Given the description of an element on the screen output the (x, y) to click on. 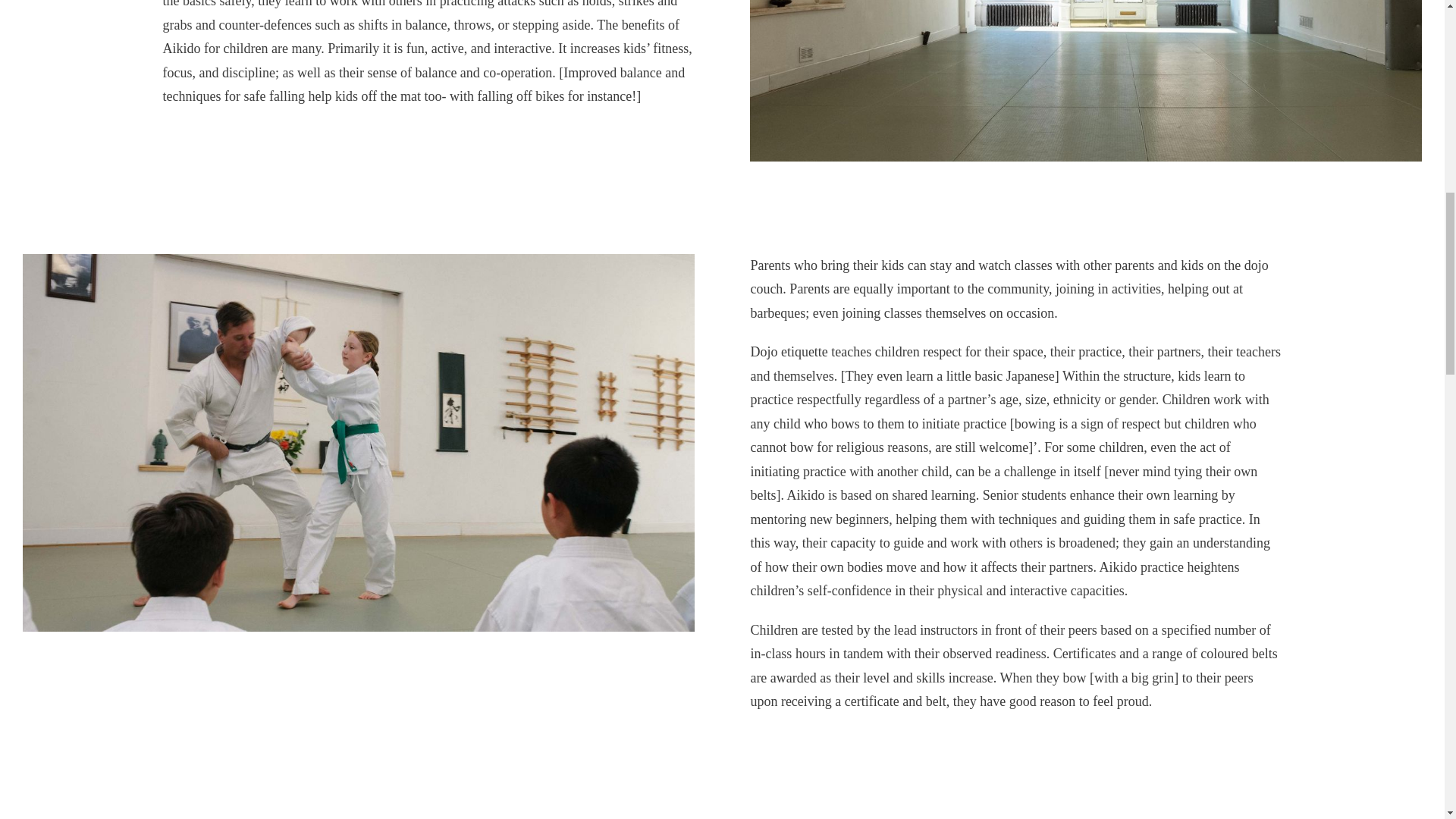
Kids Martial Arts Classes Downtown Toronto (358, 260)
